Given the description of an element on the screen output the (x, y) to click on. 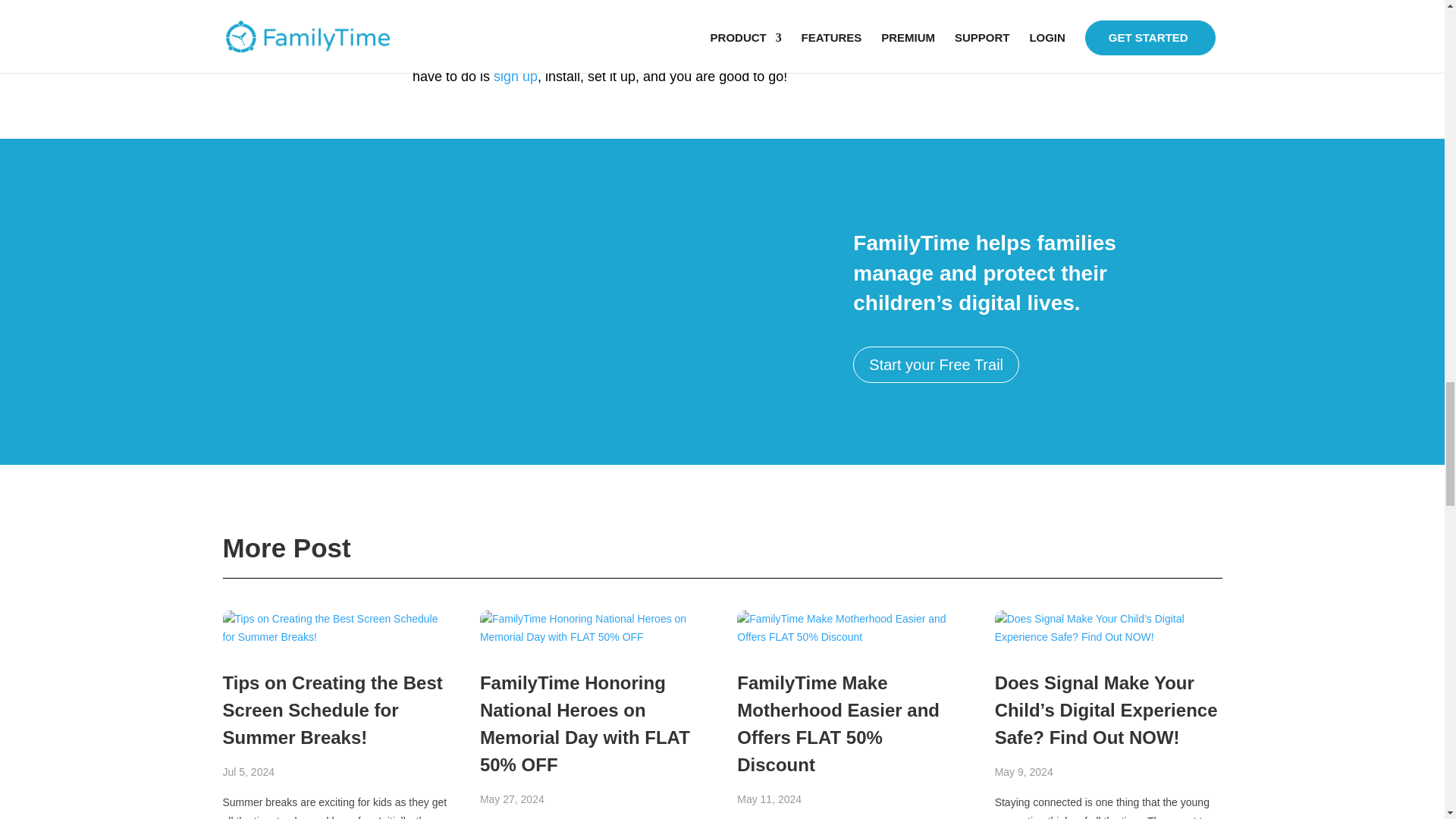
Start your Free Trail (936, 364)
sign up (515, 76)
